Given the description of an element on the screen output the (x, y) to click on. 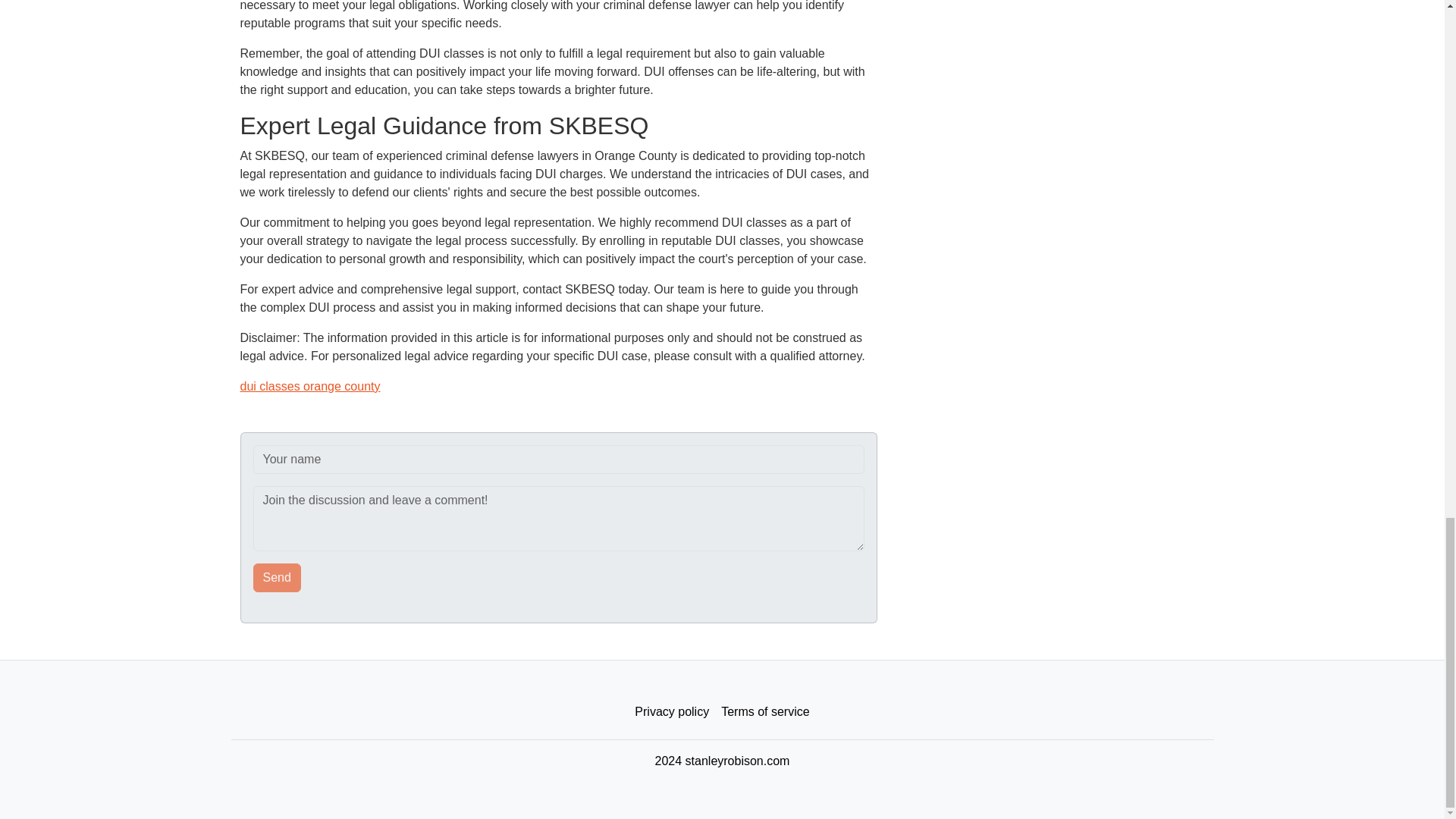
dui classes orange county (310, 386)
Terms of service (764, 711)
Send (277, 577)
Send (277, 577)
Privacy policy (671, 711)
